Given the description of an element on the screen output the (x, y) to click on. 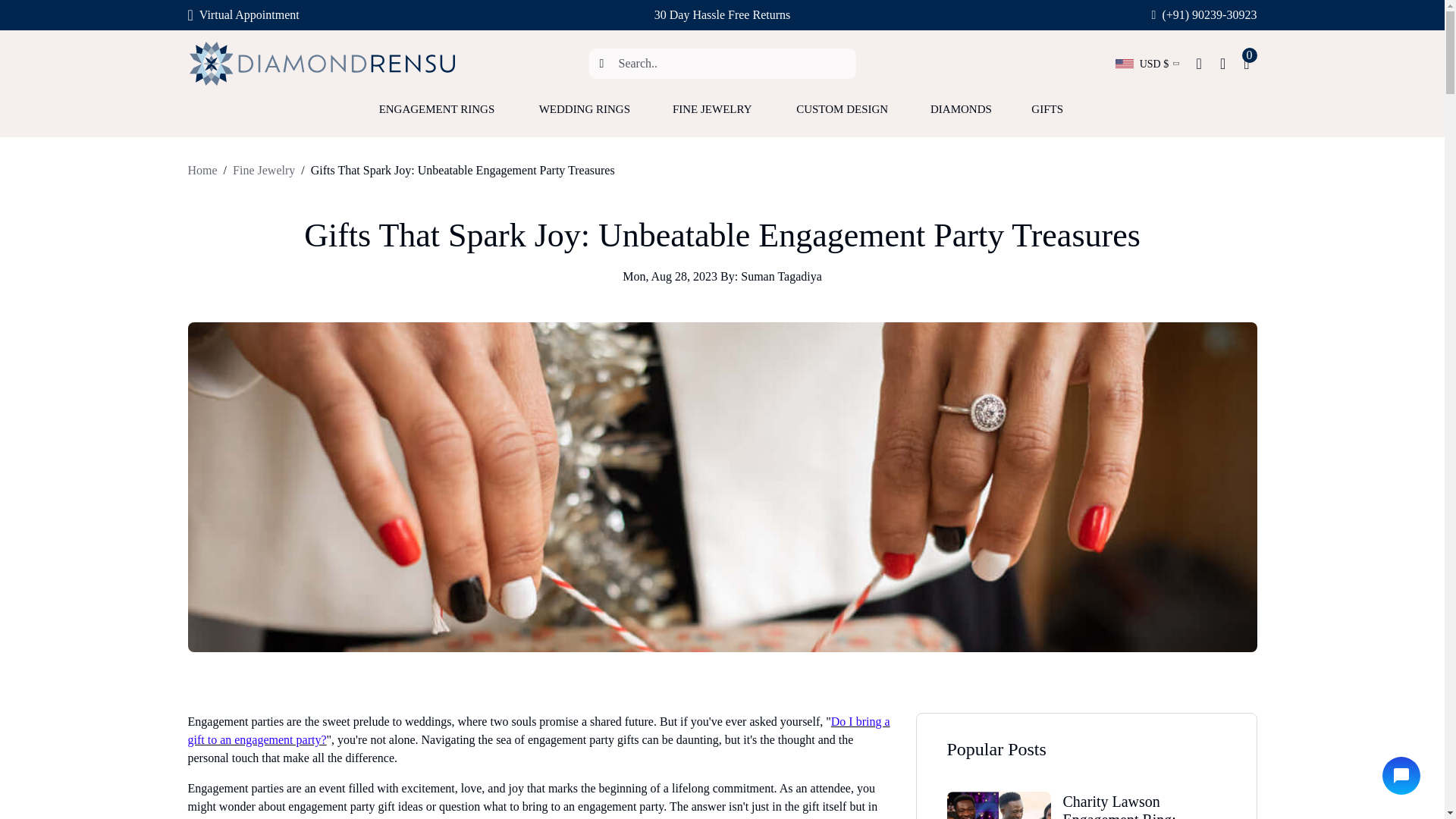
Diamondrensu (321, 63)
Virtual Appointment (243, 14)
ENGAGEMENT RINGS (439, 117)
Search.. (722, 63)
